Given the description of an element on the screen output the (x, y) to click on. 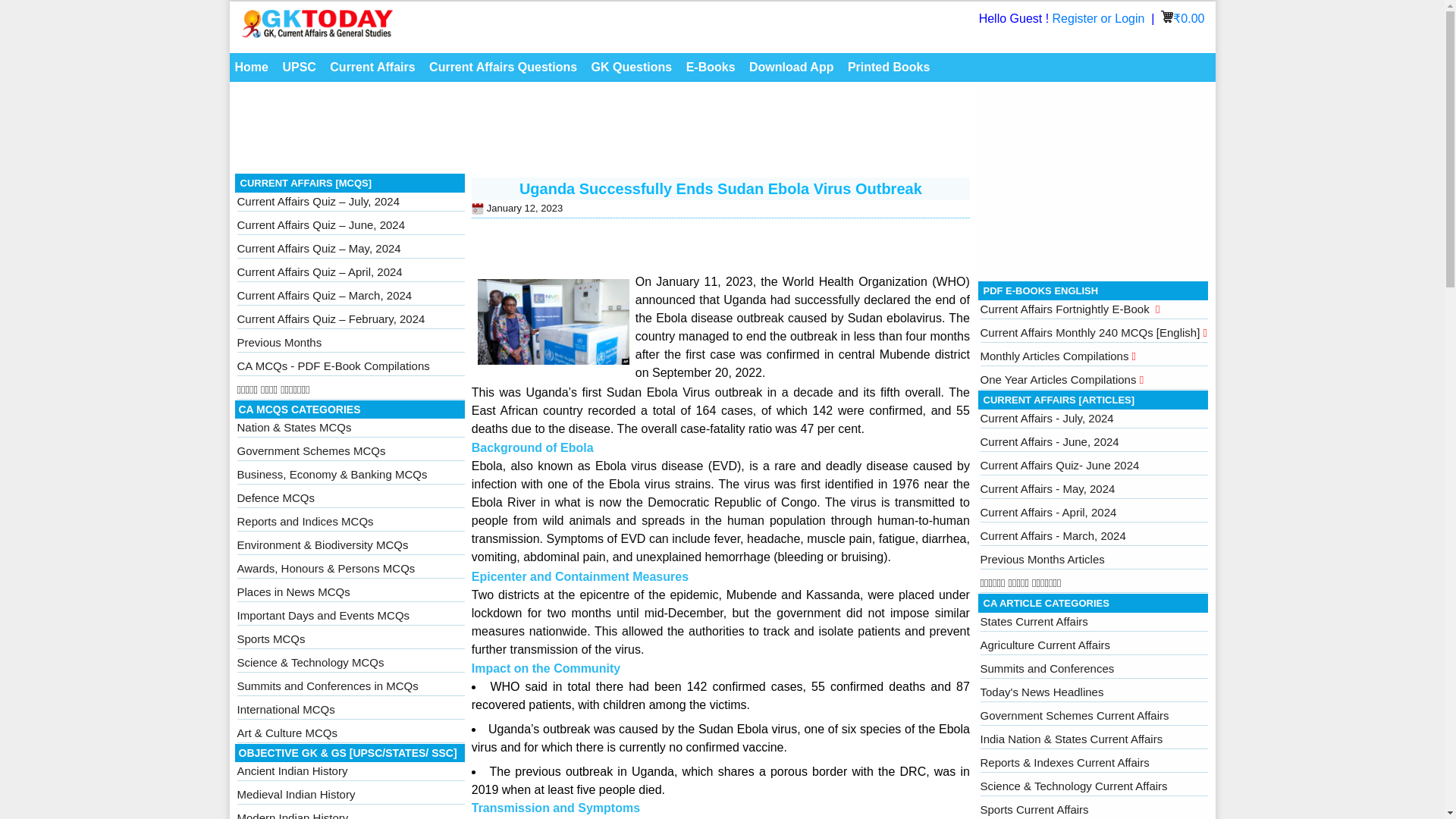
GK Questions (632, 67)
Government Schemes MCQs (310, 450)
E-Books (711, 67)
Download App (791, 67)
Current Affairs (372, 67)
Previous Months (278, 341)
Register or Login (1100, 18)
UPSC (298, 67)
CA MCQs - PDF E-Book Compilations (332, 365)
Current Affairs Questions (502, 67)
Advertisement (602, 131)
Printed Books (888, 67)
Defence MCQs (274, 497)
Home (250, 67)
